Given the description of an element on the screen output the (x, y) to click on. 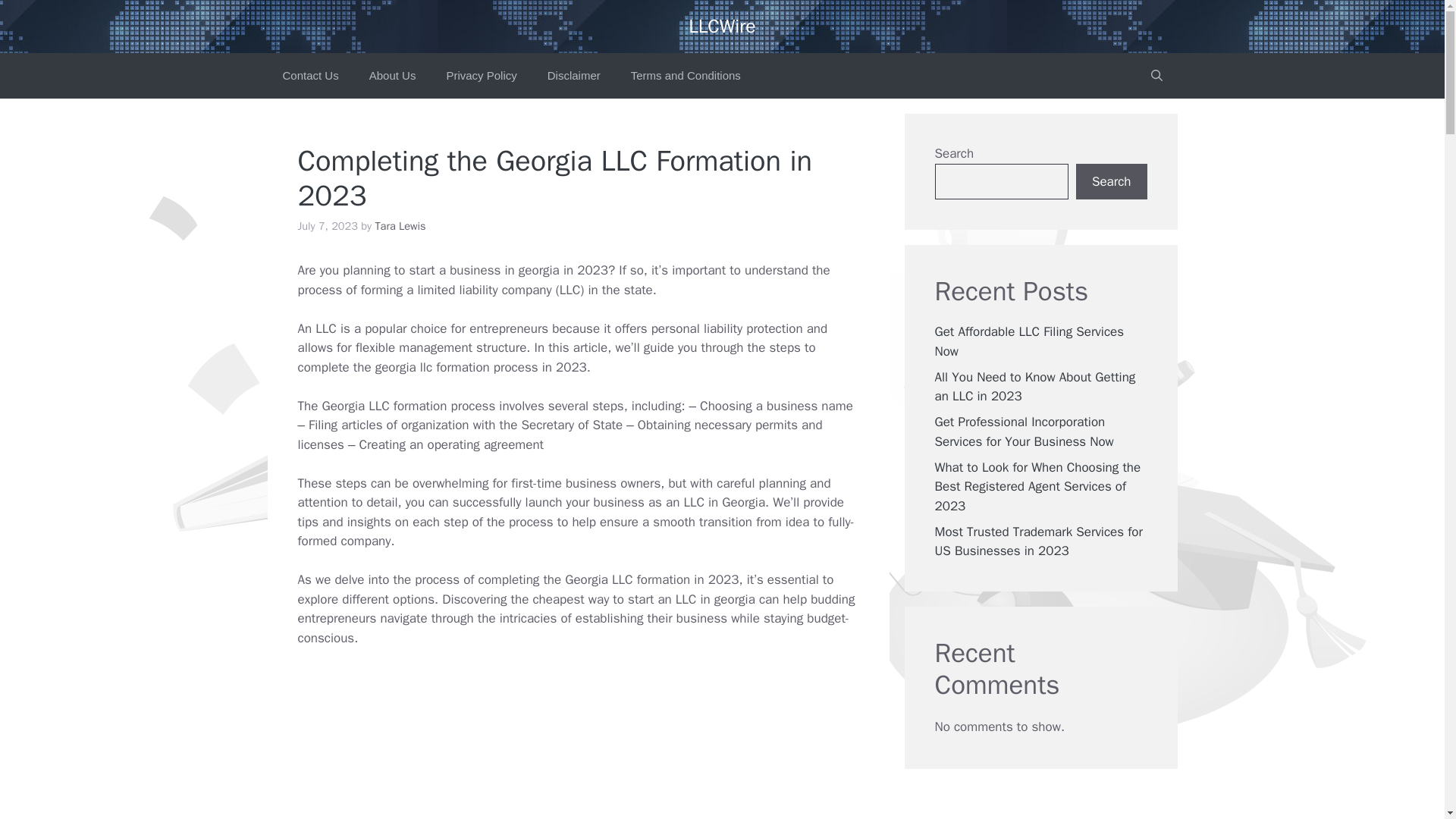
Search (1111, 181)
georgia (538, 270)
Contact Us (309, 75)
Privacy Policy (480, 75)
Get Affordable LLC Filing Services Now (1029, 341)
Terms and Conditions (685, 75)
All You Need to Know About Getting an LLC in 2023 (1034, 386)
View all posts by Tara Lewis (399, 225)
Disclaimer (573, 75)
LLC (325, 328)
About Us (391, 75)
LLCWire (721, 25)
limited liability company (483, 289)
All You Need to Know About Getting an LLC in 2023 (483, 289)
